Given the description of an element on the screen output the (x, y) to click on. 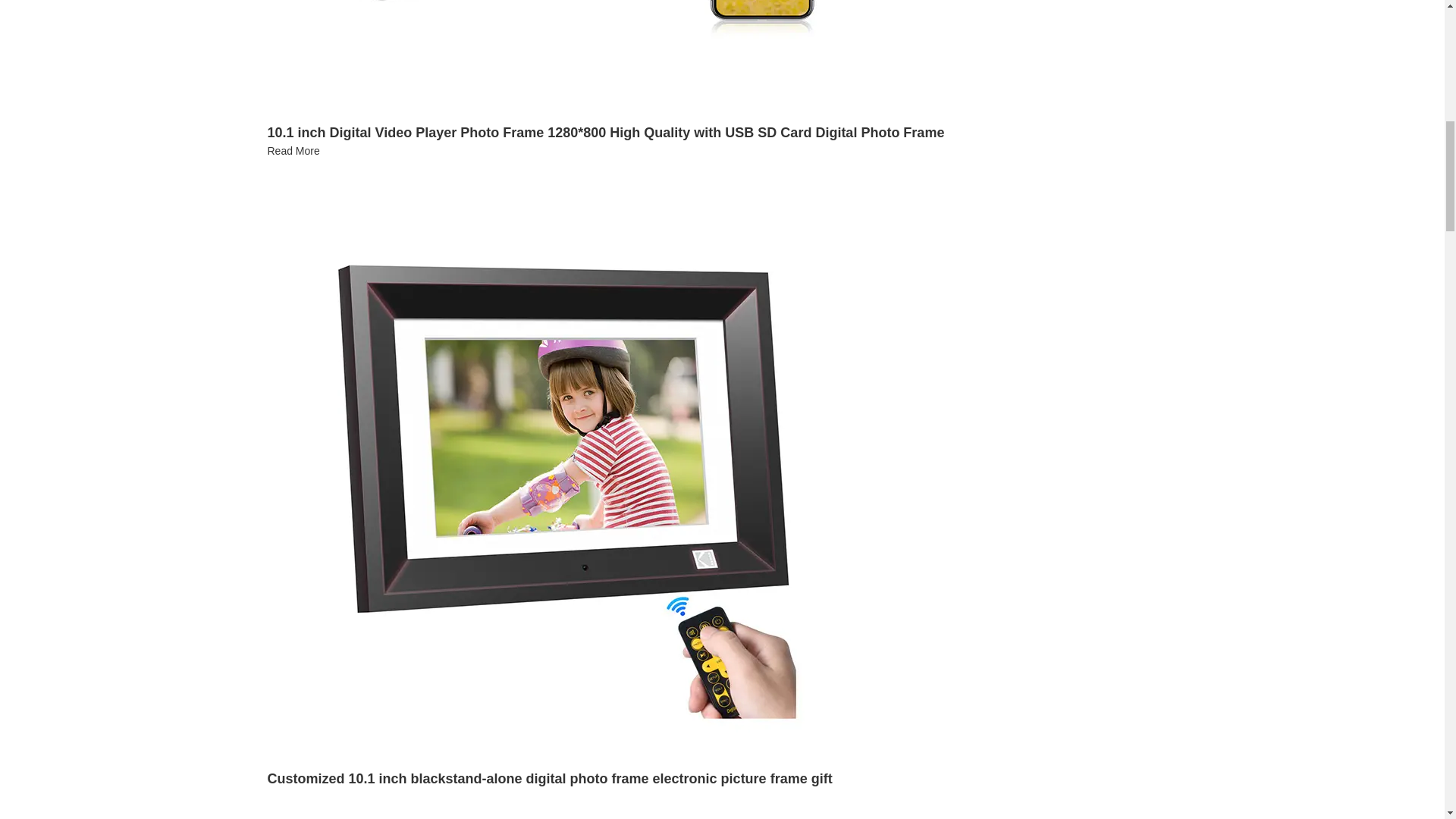
Read More (292, 150)
